Given the description of an element on the screen output the (x, y) to click on. 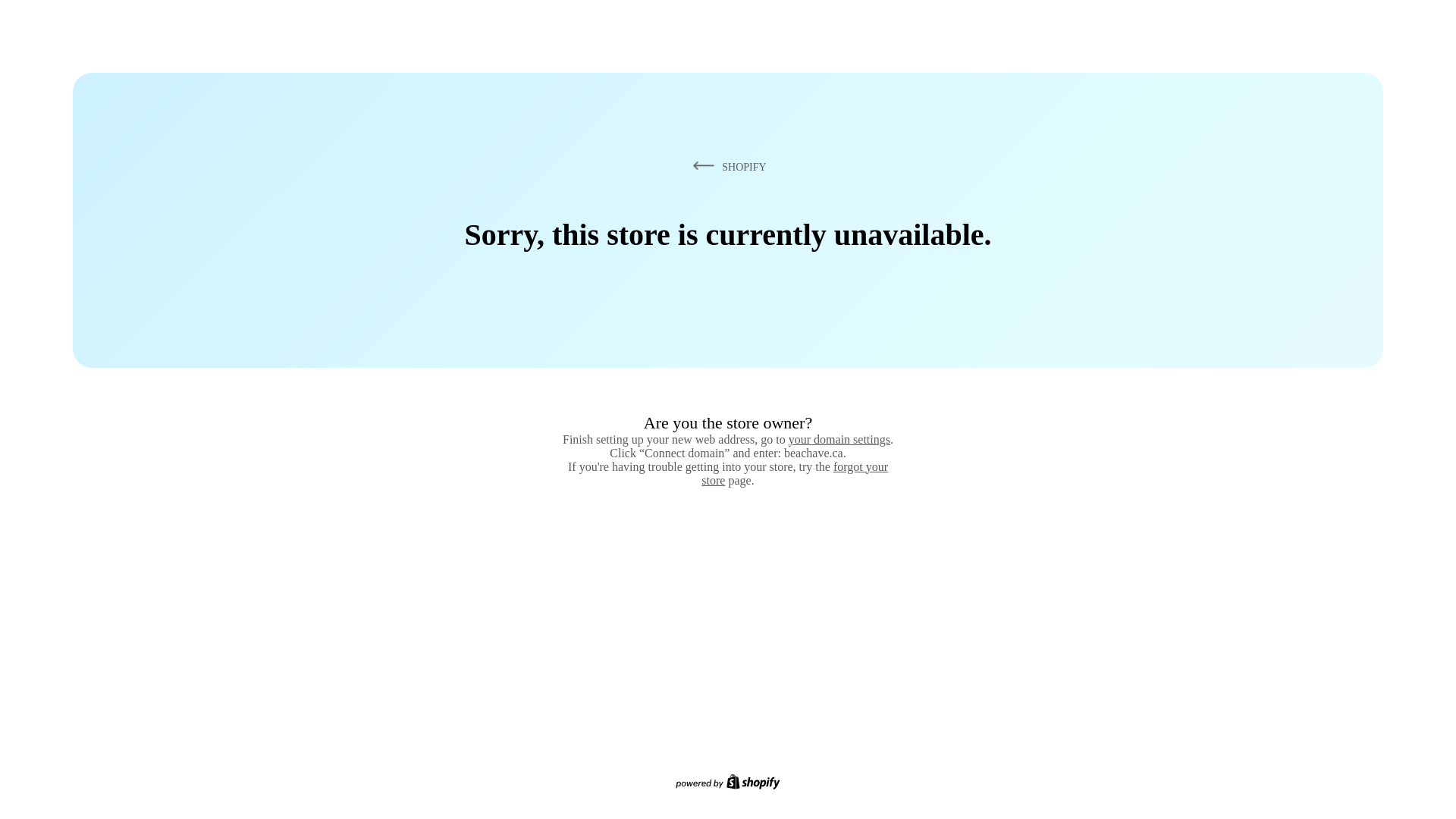
SHOPIFY Element type: text (727, 166)
forgot your store Element type: text (794, 473)
your domain settings Element type: text (839, 439)
